Given the description of an element on the screen output the (x, y) to click on. 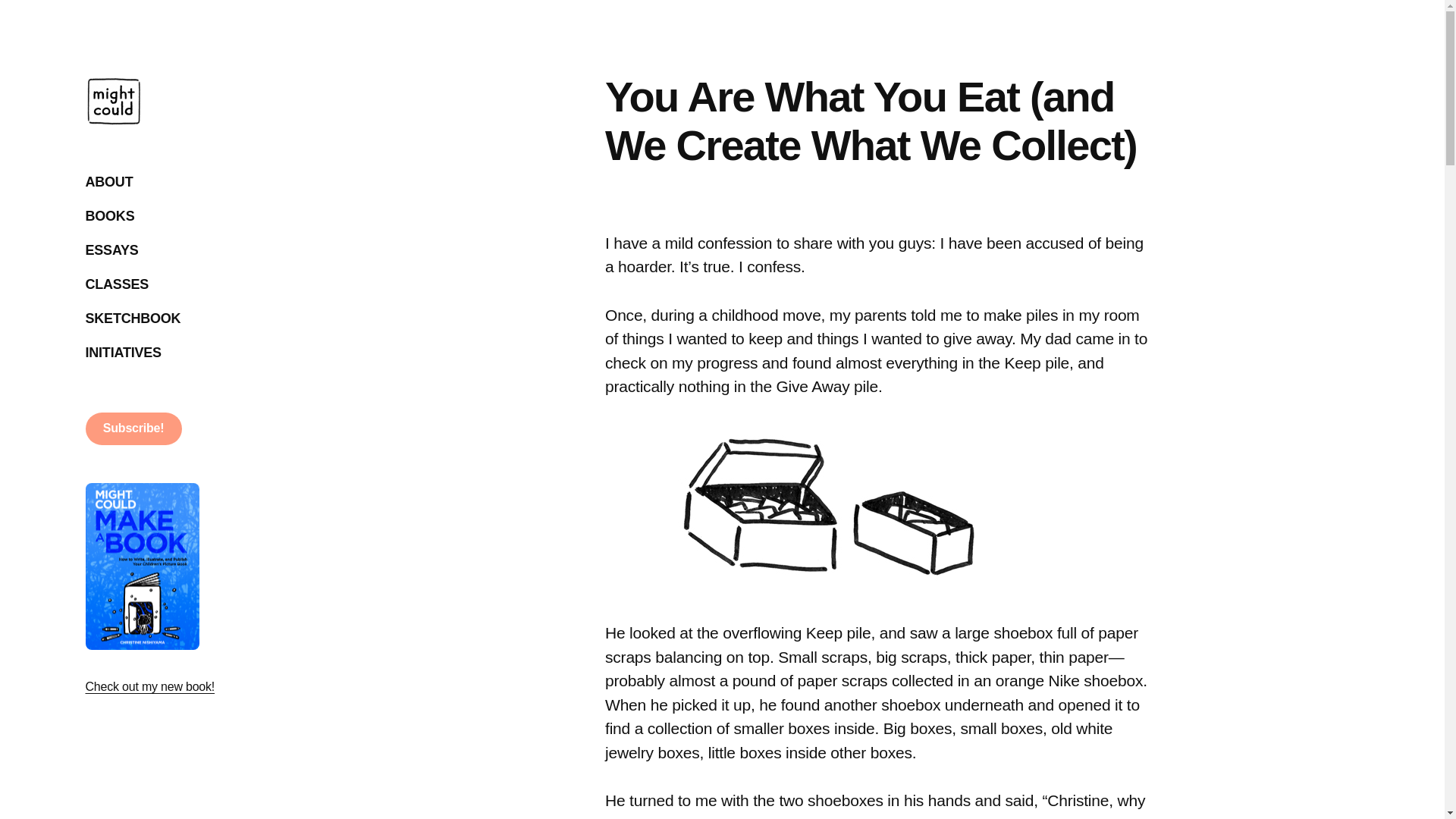
ABOUT (108, 182)
INITIATIVES (122, 353)
BOOKS (108, 216)
Subscribe! (132, 428)
SKETCHBOOK (132, 319)
ESSAYS (111, 250)
Check out my new book! (149, 686)
CLASSES (116, 284)
